Given the description of an element on the screen output the (x, y) to click on. 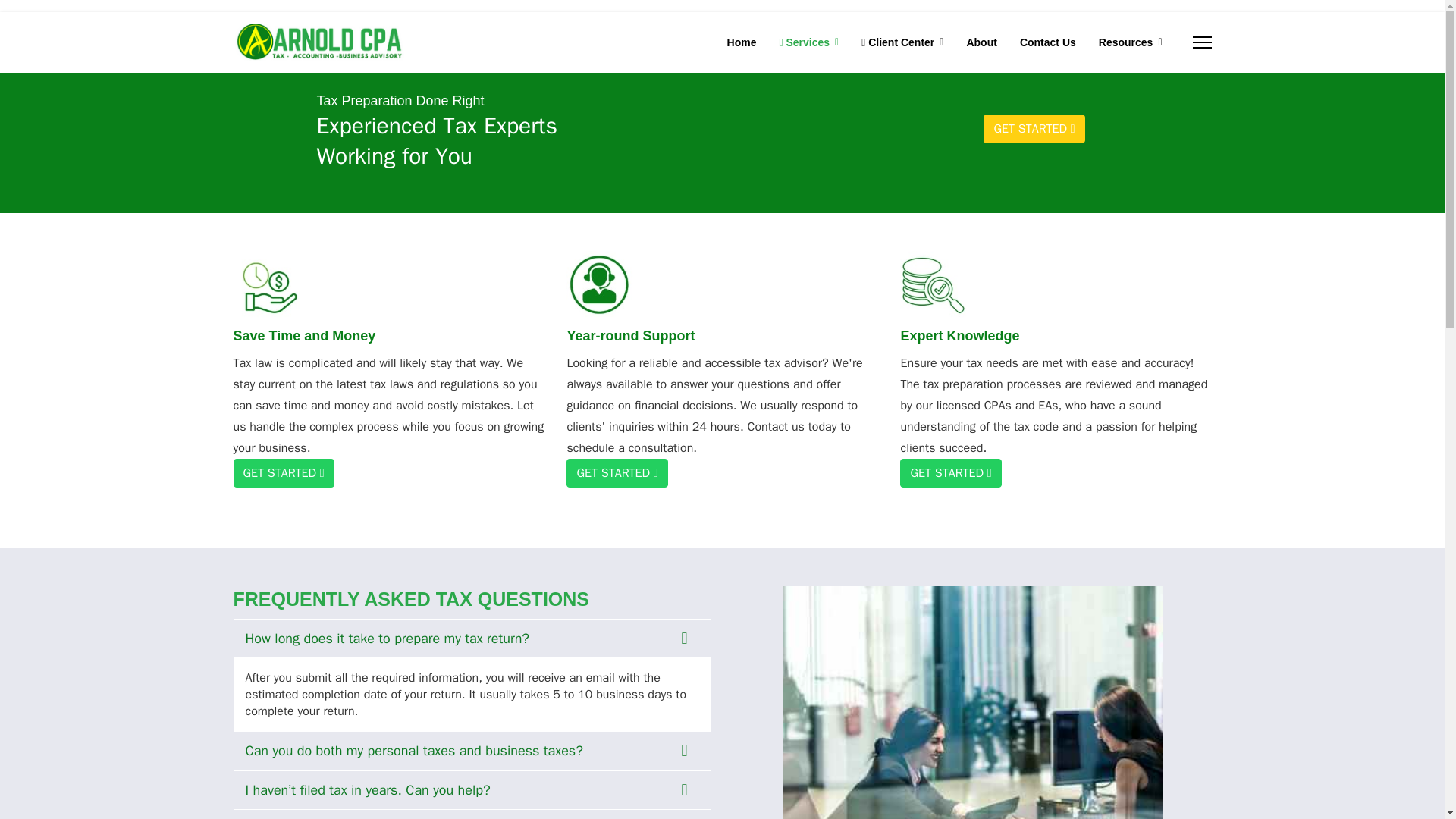
Contact Us (1048, 42)
GET STARTED (1034, 128)
Services (808, 42)
GET STARTED (283, 472)
GET STARTED (616, 472)
GET STARTED (950, 472)
